Given the description of an element on the screen output the (x, y) to click on. 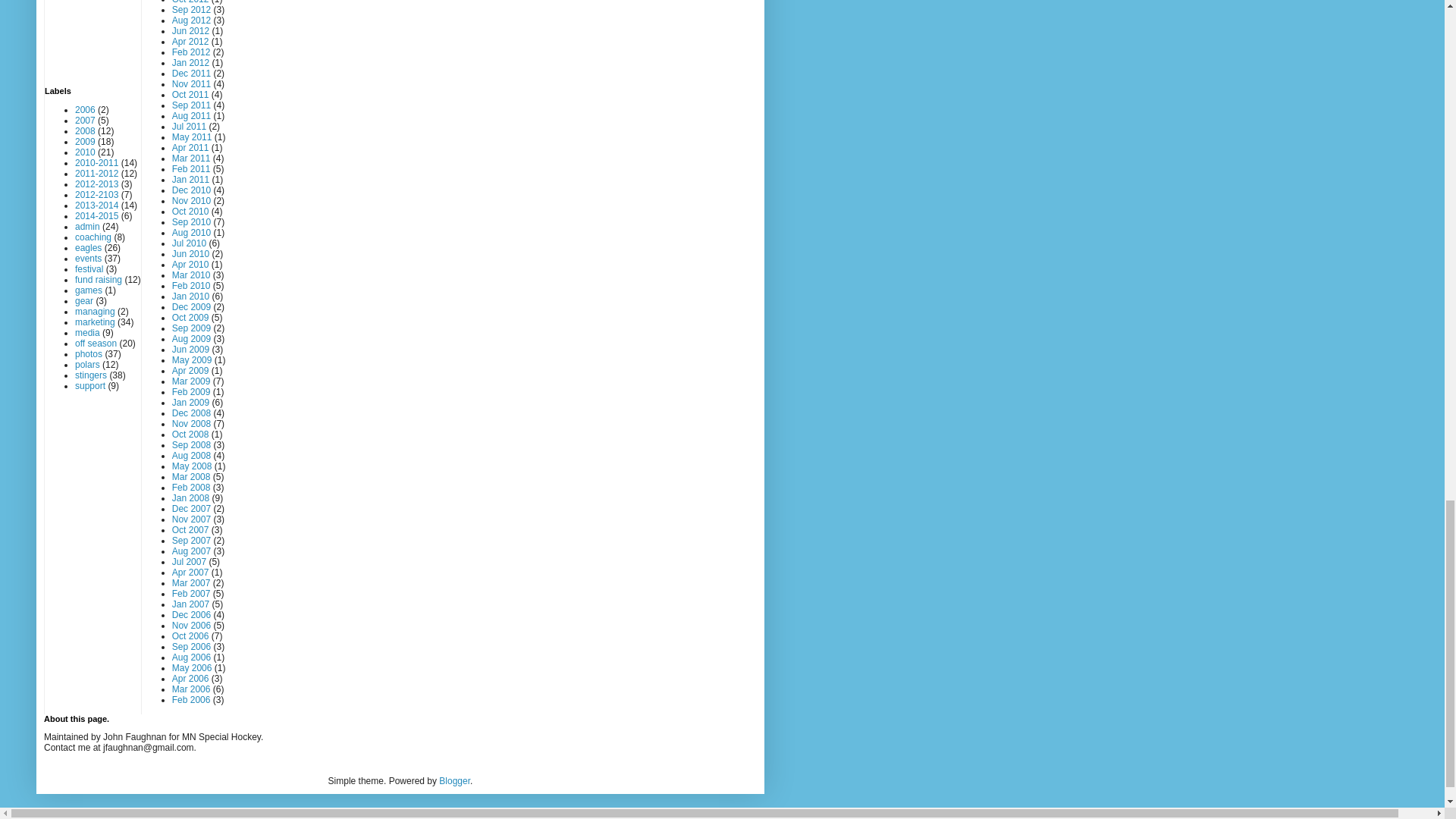
2014-2015 (96, 215)
2006 (85, 109)
2008 (85, 131)
admin (87, 226)
2012-2013 (96, 184)
2010 (85, 152)
2012-2103 (96, 194)
2010-2011 (96, 163)
2009 (85, 141)
eagles (88, 247)
2011-2012 (96, 173)
coaching (93, 236)
2007 (85, 120)
2013-2014 (96, 204)
